Given the description of an element on the screen output the (x, y) to click on. 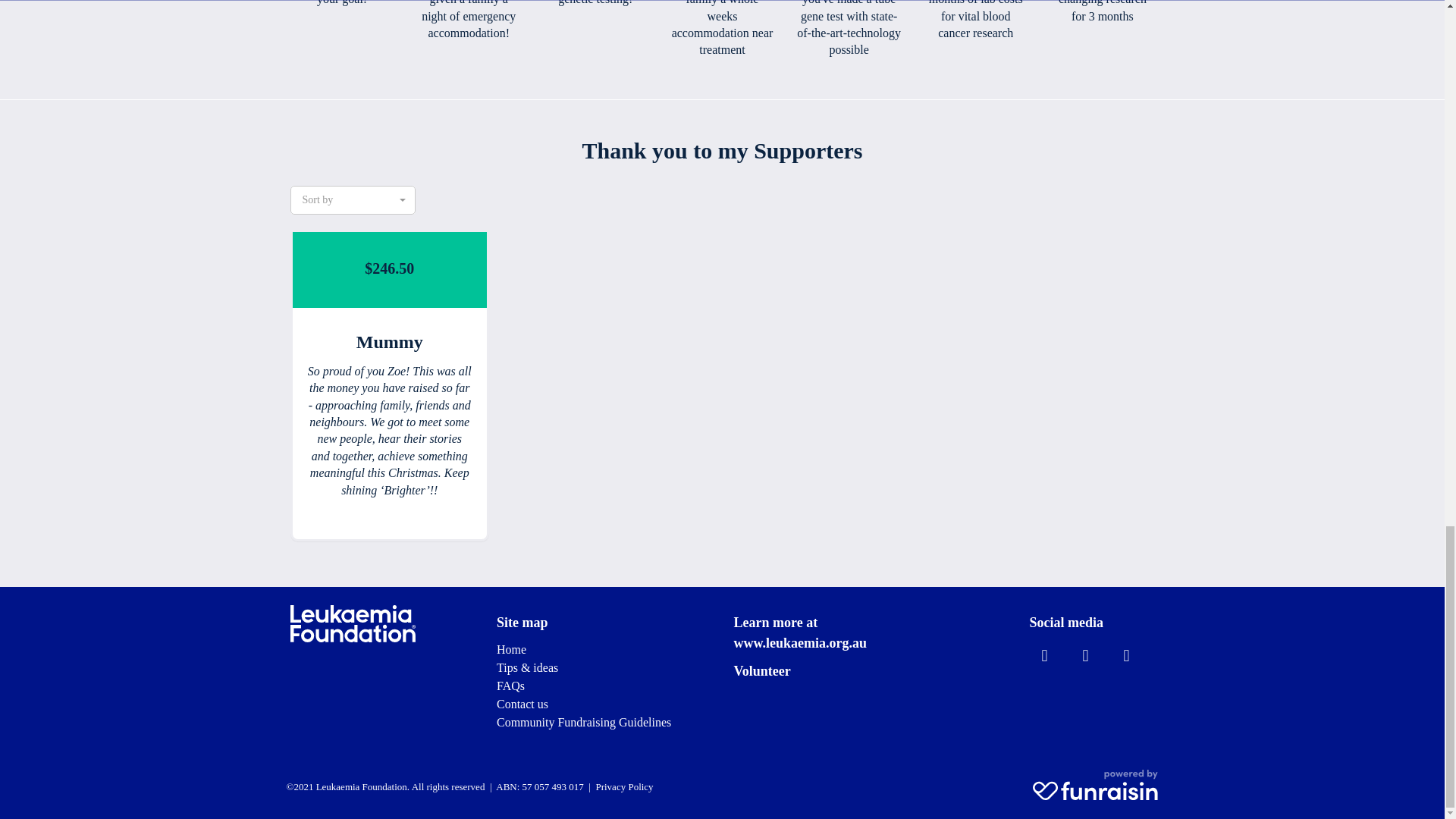
Sort by (351, 199)
